Given the description of an element on the screen output the (x, y) to click on. 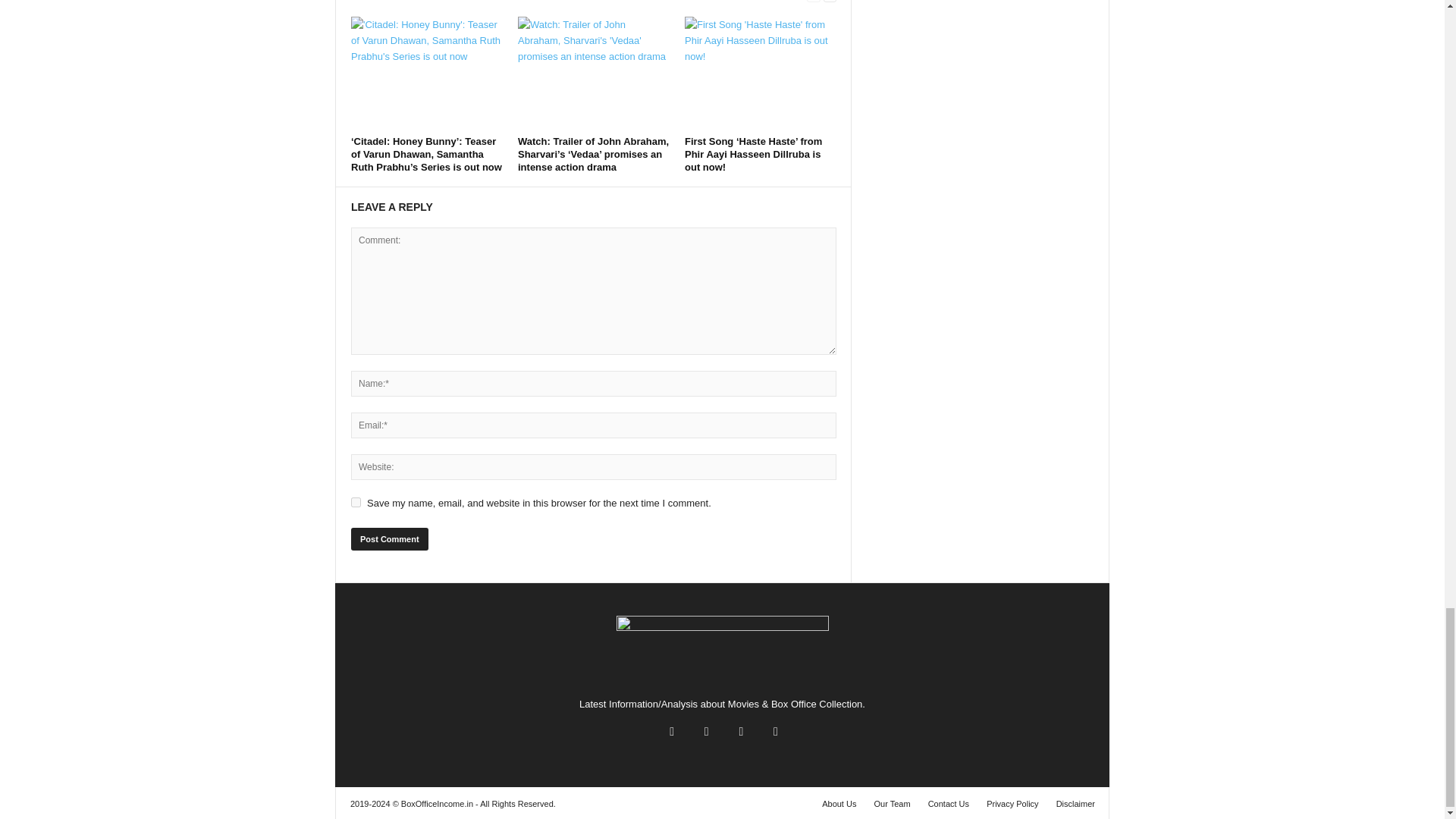
Post Comment (389, 538)
yes (355, 501)
